Given the description of an element on the screen output the (x, y) to click on. 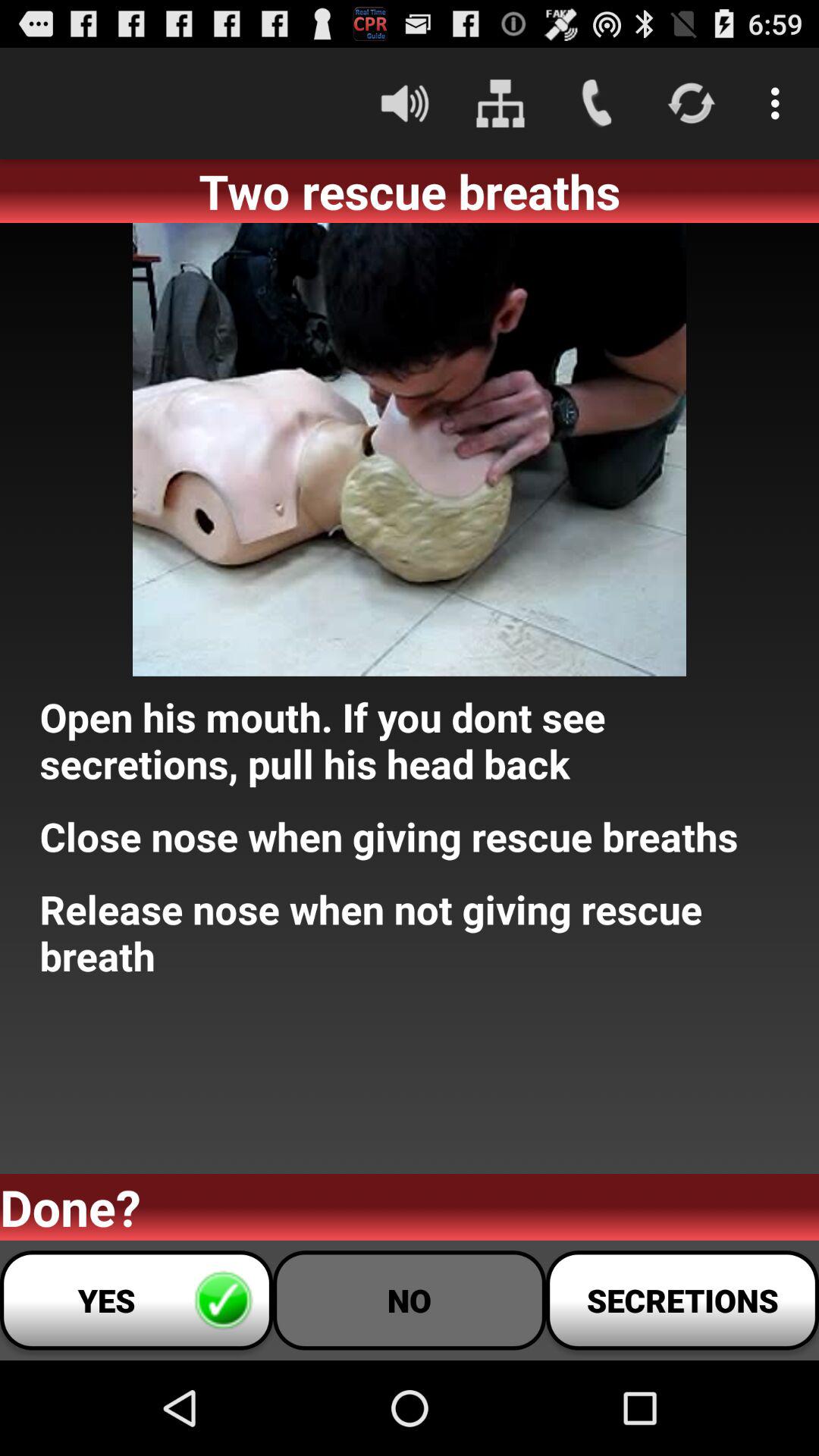
turn off the item to the left of secretions item (409, 1300)
